Given the description of an element on the screen output the (x, y) to click on. 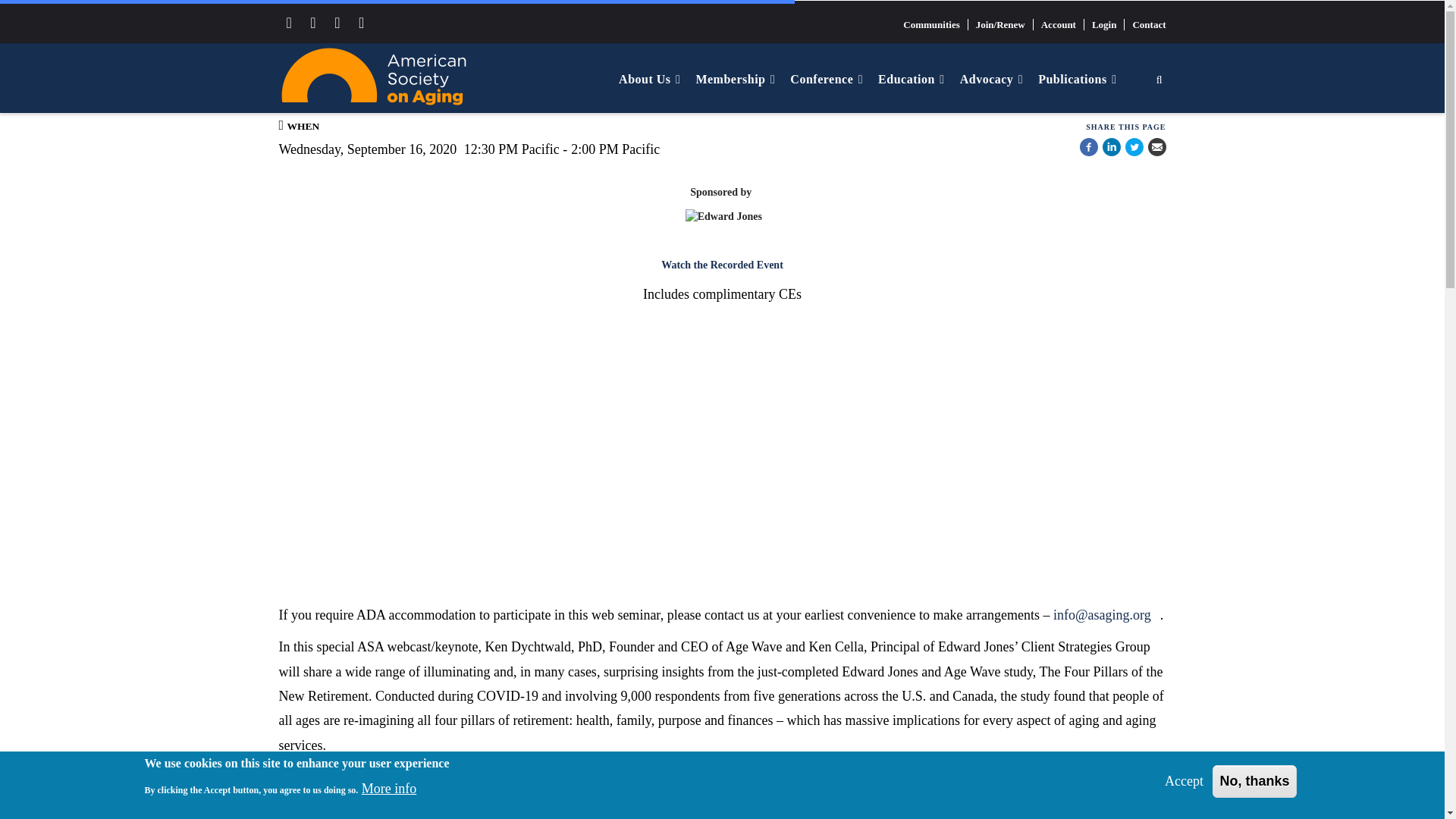
Contact (1145, 24)
Home (373, 75)
Conference (826, 79)
Twitter (1133, 150)
Account (1058, 24)
Linkedin (1111, 150)
Communities (931, 24)
Email (1157, 150)
Facebook (1088, 150)
About Us (649, 79)
Education (911, 79)
Login (1104, 24)
Membership (735, 79)
